Given the description of an element on the screen output the (x, y) to click on. 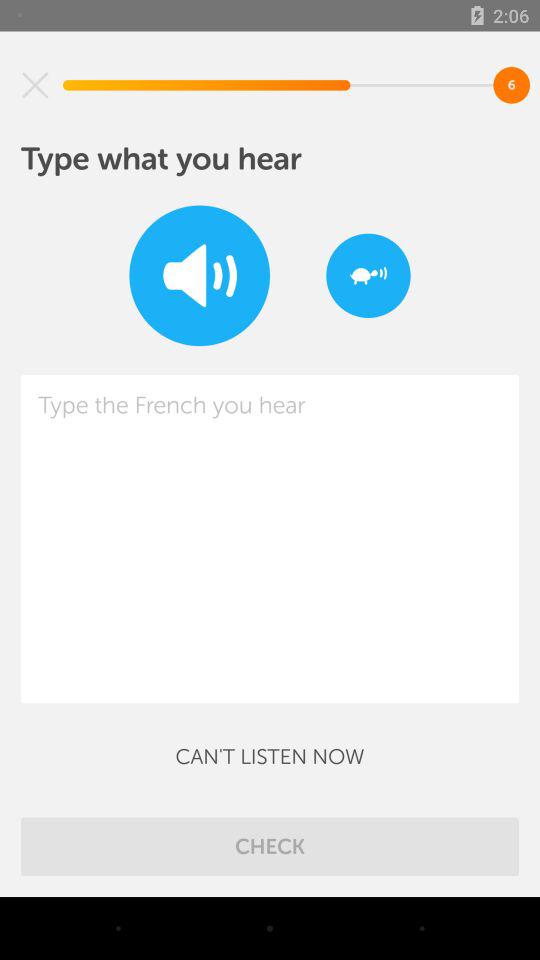
swipe until check (270, 846)
